Given the description of an element on the screen output the (x, y) to click on. 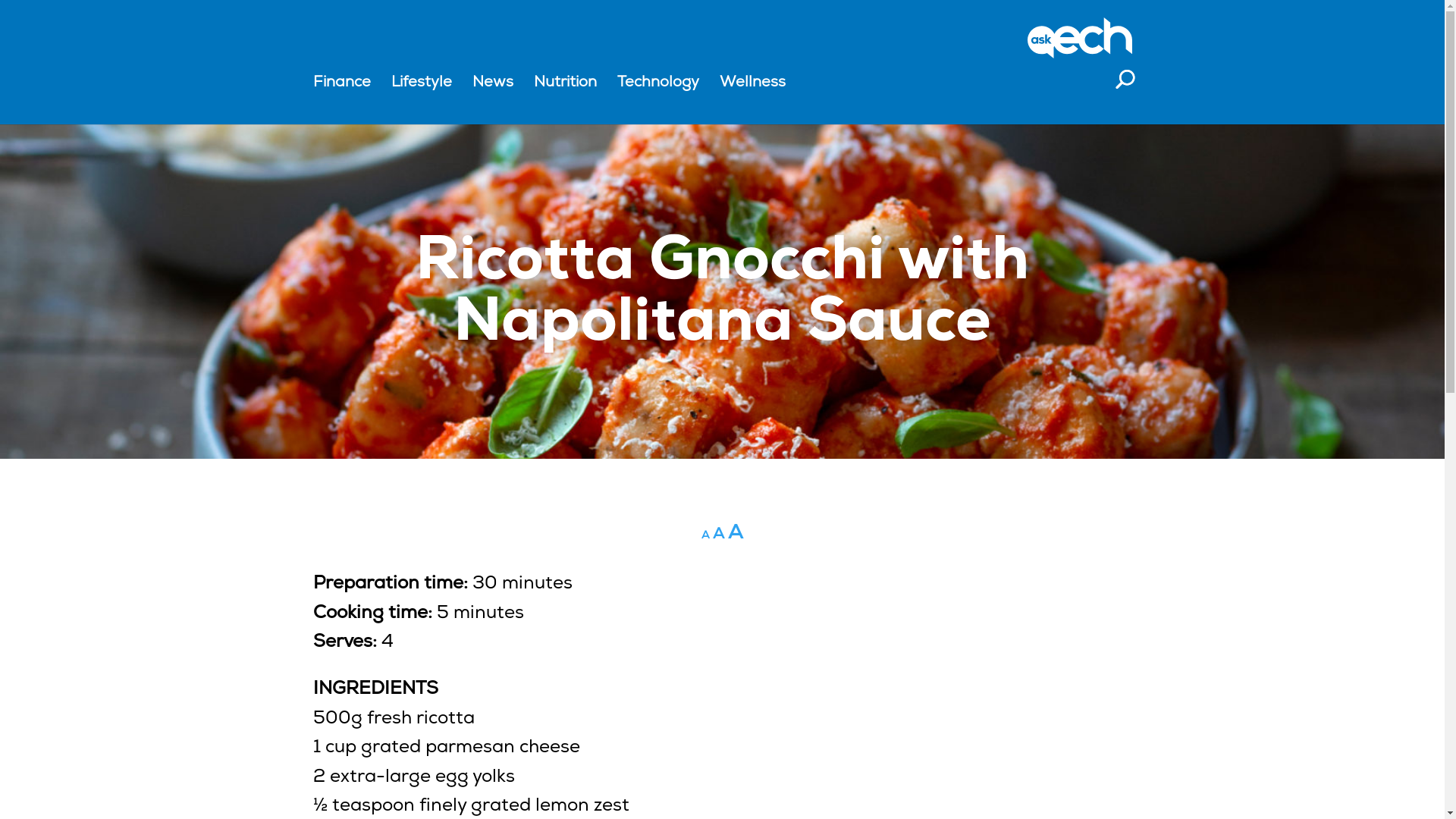
Technology Element type: text (658, 95)
Lifestyle Element type: text (421, 95)
Finance Element type: text (341, 95)
Wellness Element type: text (751, 95)
Nutrition Element type: text (564, 95)
A
Increase font size. Element type: text (735, 531)
News Element type: text (491, 95)
A
Decrease font size. Element type: text (705, 534)
A
Reset font size. Element type: text (718, 532)
